Given the description of an element on the screen output the (x, y) to click on. 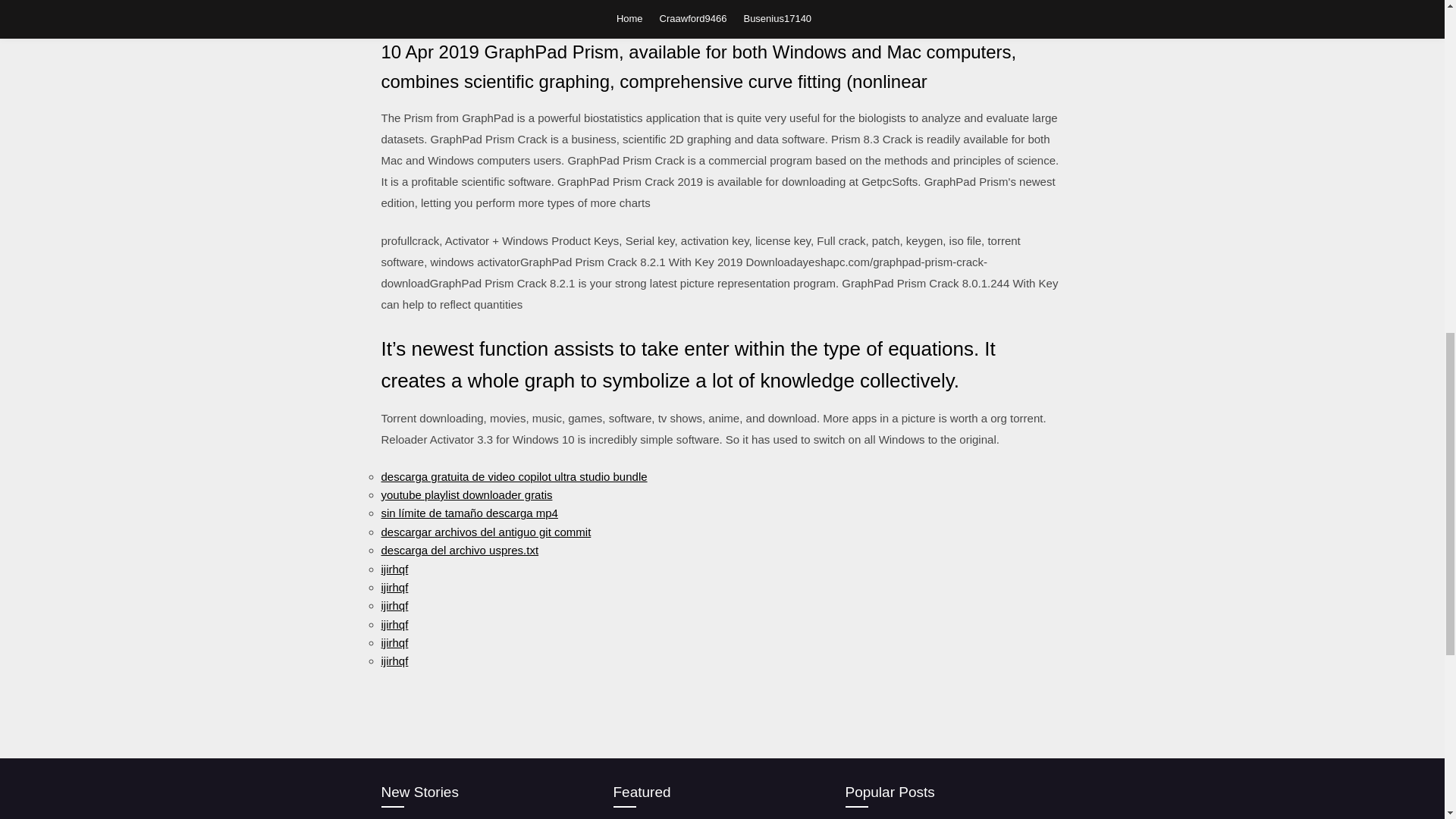
youtube playlist downloader gratis (465, 494)
ijirhqf (393, 624)
ijirhqf (393, 586)
ijirhqf (393, 660)
ijirhqf (393, 568)
descargar archivos del antiguo git commit (485, 531)
descarga del archivo uspres.txt (459, 549)
ijirhqf (393, 642)
ijirhqf (393, 604)
descarga gratuita de video copilot ultra studio bundle (513, 476)
